Given the description of an element on the screen output the (x, y) to click on. 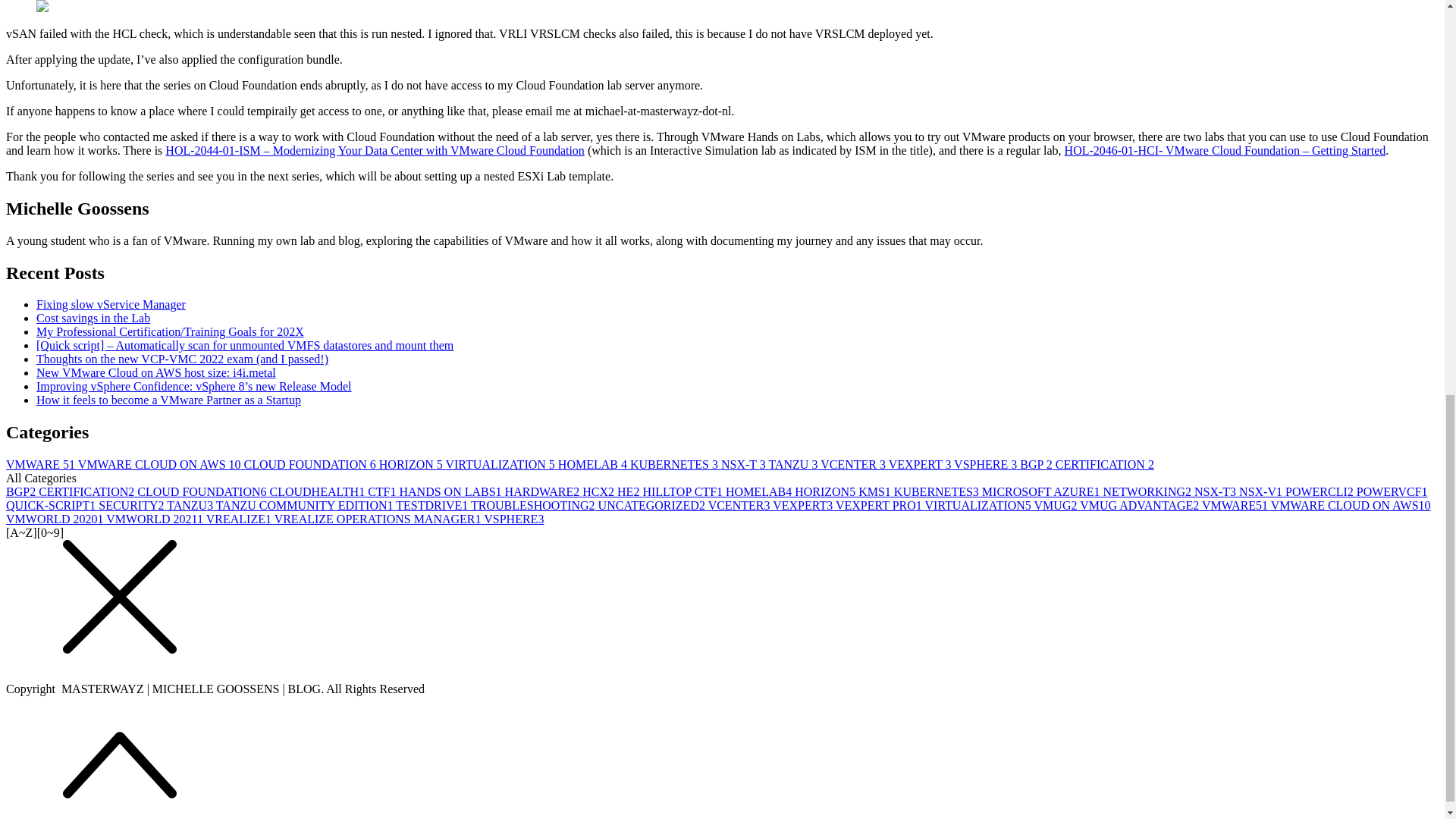
How it feels to become a VMware Partner as a Startup (168, 399)
Fixing slow vService Manager (111, 304)
CLOUD FOUNDATION 6 (311, 463)
VCENTER 3 (854, 463)
VEXPERT 3 (920, 463)
Cost savings in the Lab (92, 318)
CERTIFICATION 2 (1104, 463)
BGP2 (22, 491)
Fixing slow vService Manager (111, 304)
Cost savings in the Lab (92, 318)
